Given the description of an element on the screen output the (x, y) to click on. 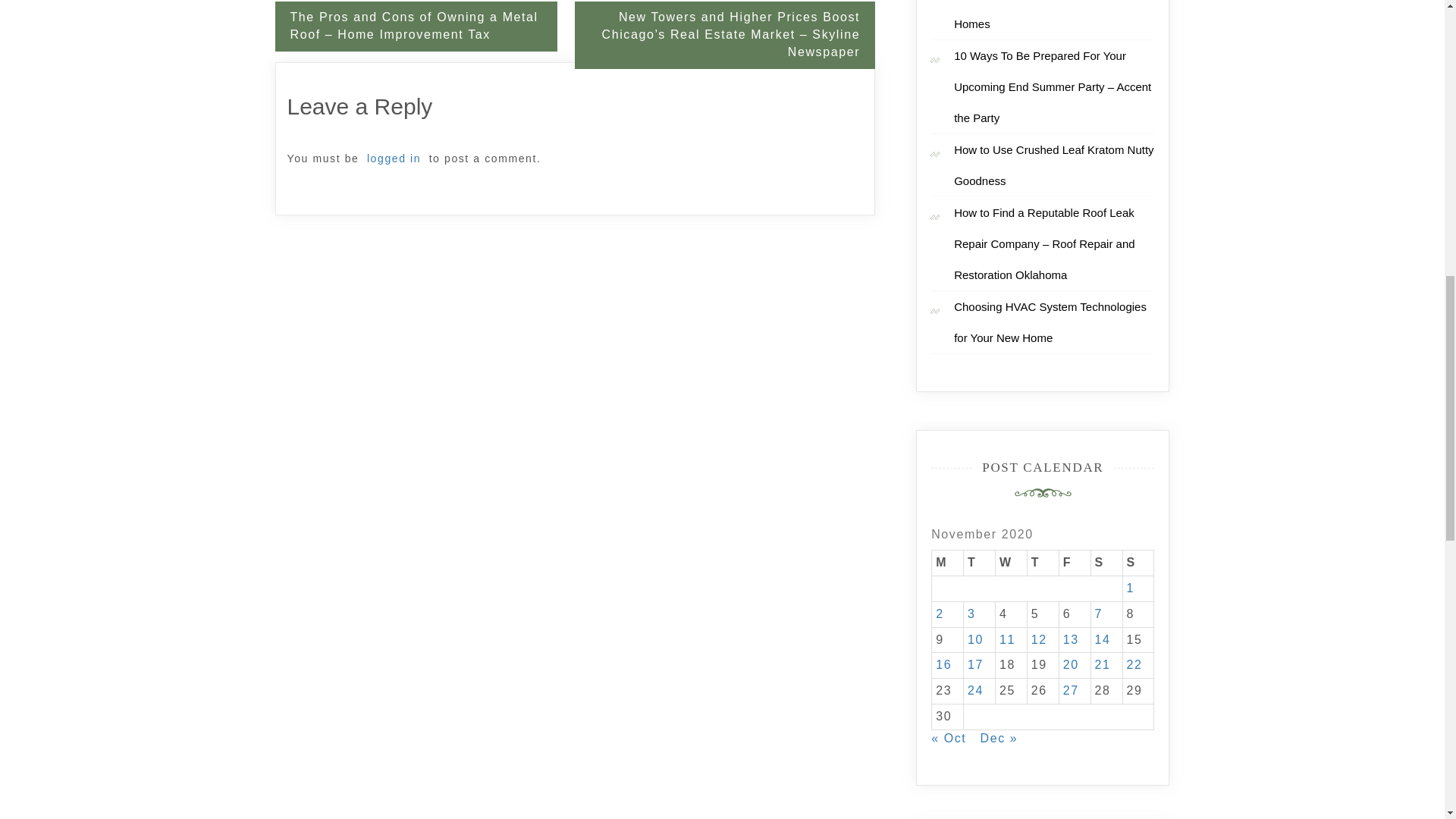
10 (976, 639)
Saturday (1106, 563)
Wednesday (1010, 563)
logged in (393, 158)
Monday (947, 563)
11 (1006, 639)
Choosing HVAC System Technologies for Your New Home (1050, 321)
Thursday (1042, 563)
Sunday (1138, 563)
Tuesday (979, 563)
12 (1038, 639)
Friday (1074, 563)
How to Use Crushed Leaf Kratom Nutty Goodness (1053, 165)
